Given the description of an element on the screen output the (x, y) to click on. 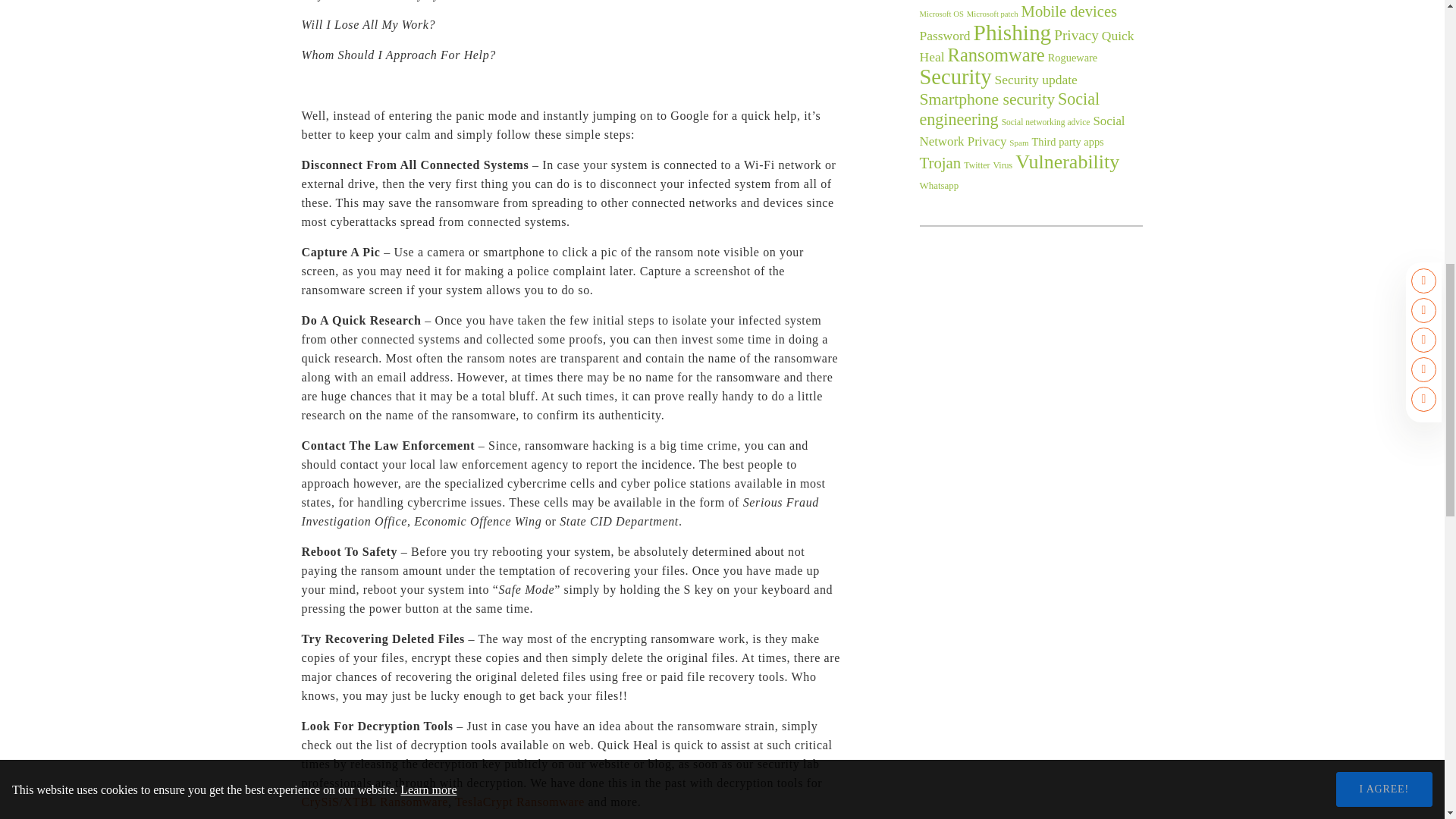
TeslaCrypt Ransomware (519, 801)
